Given the description of an element on the screen output the (x, y) to click on. 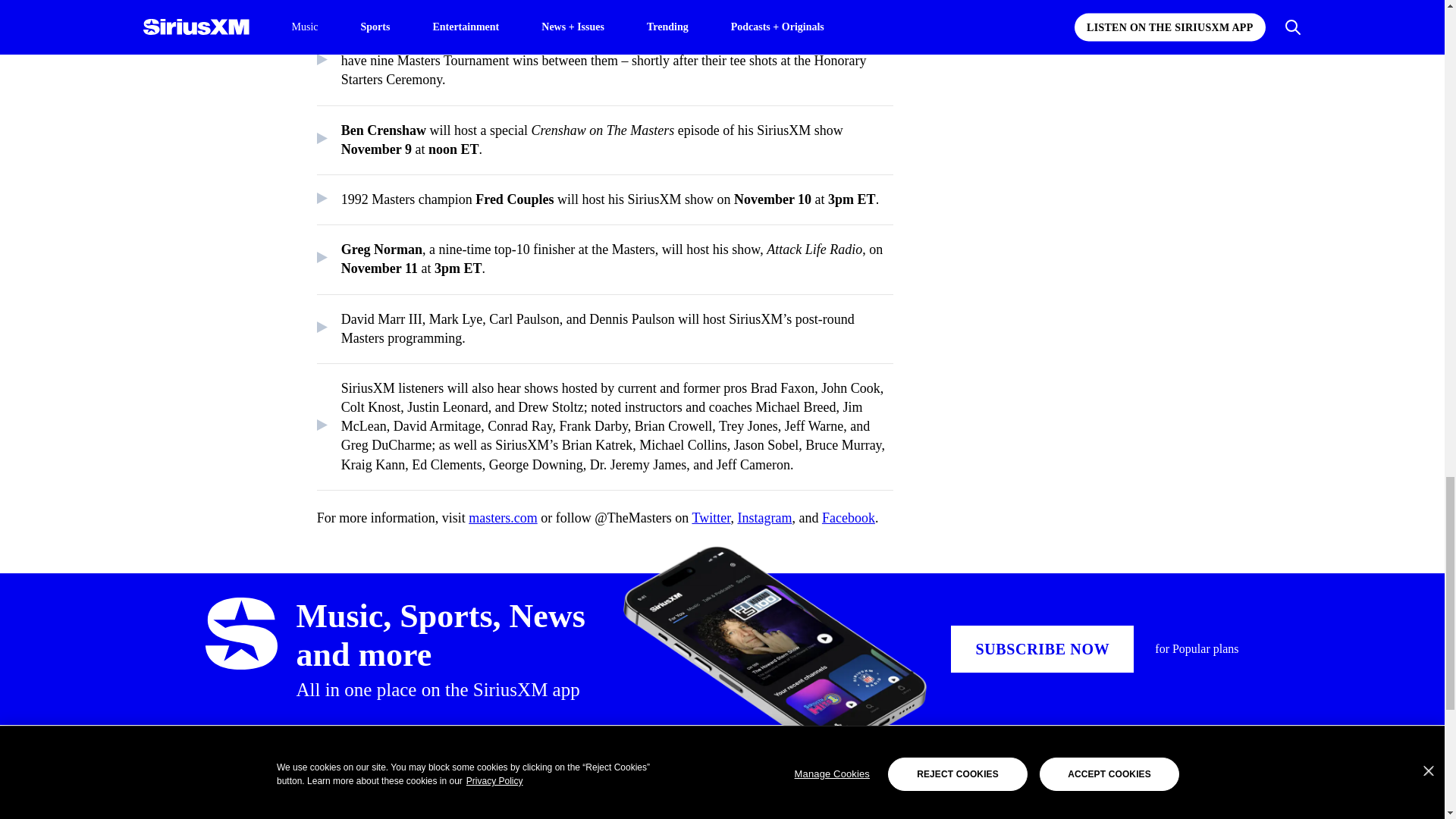
SUBSCRIBE NOW (1042, 648)
Facebook (848, 517)
Instagram (764, 517)
masters.com (502, 517)
Twitter (710, 517)
